Given the description of an element on the screen output the (x, y) to click on. 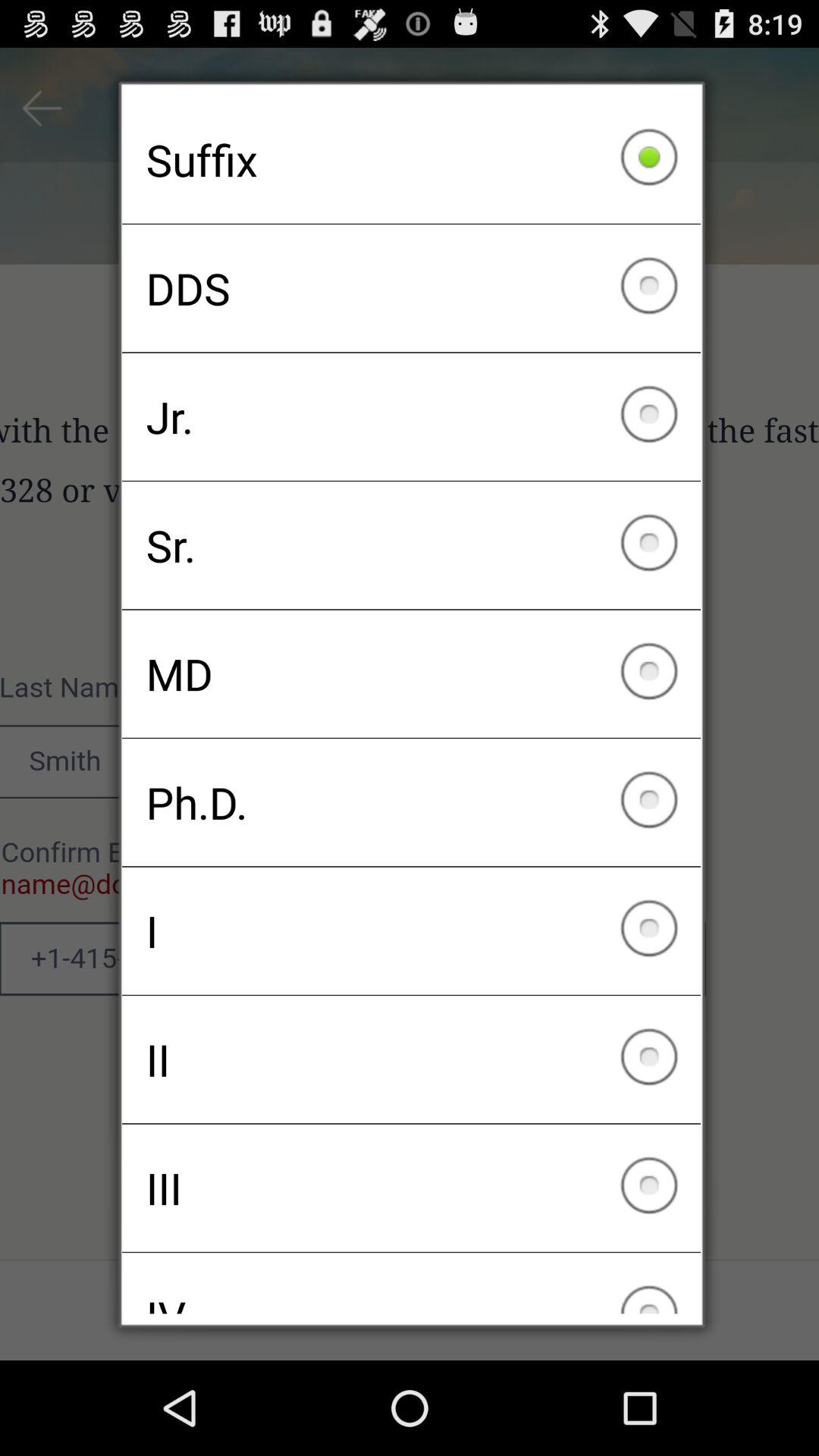
choose the icon above the sr. icon (411, 416)
